Given the description of an element on the screen output the (x, y) to click on. 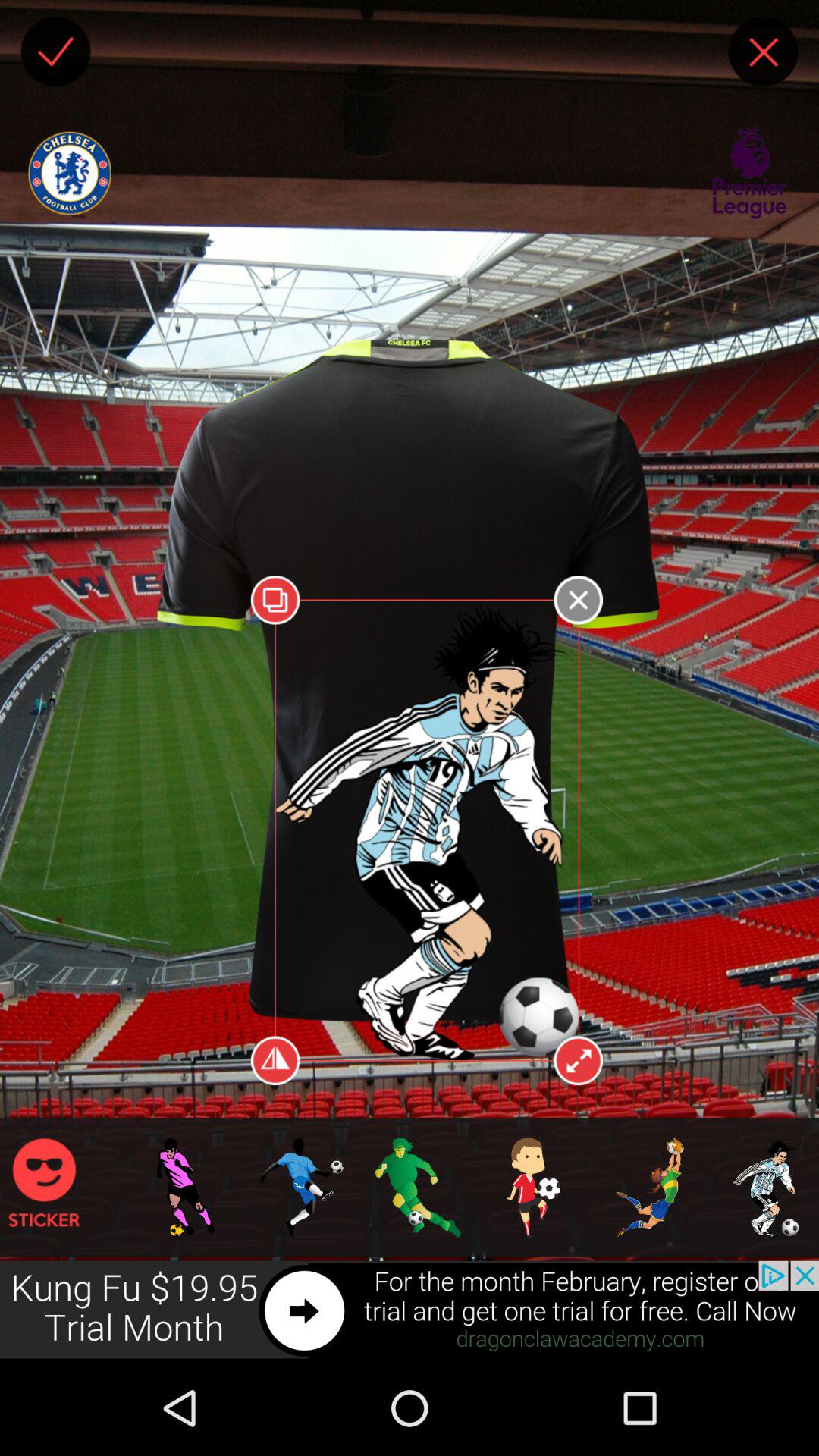
close this page (763, 51)
